Given the description of an element on the screen output the (x, y) to click on. 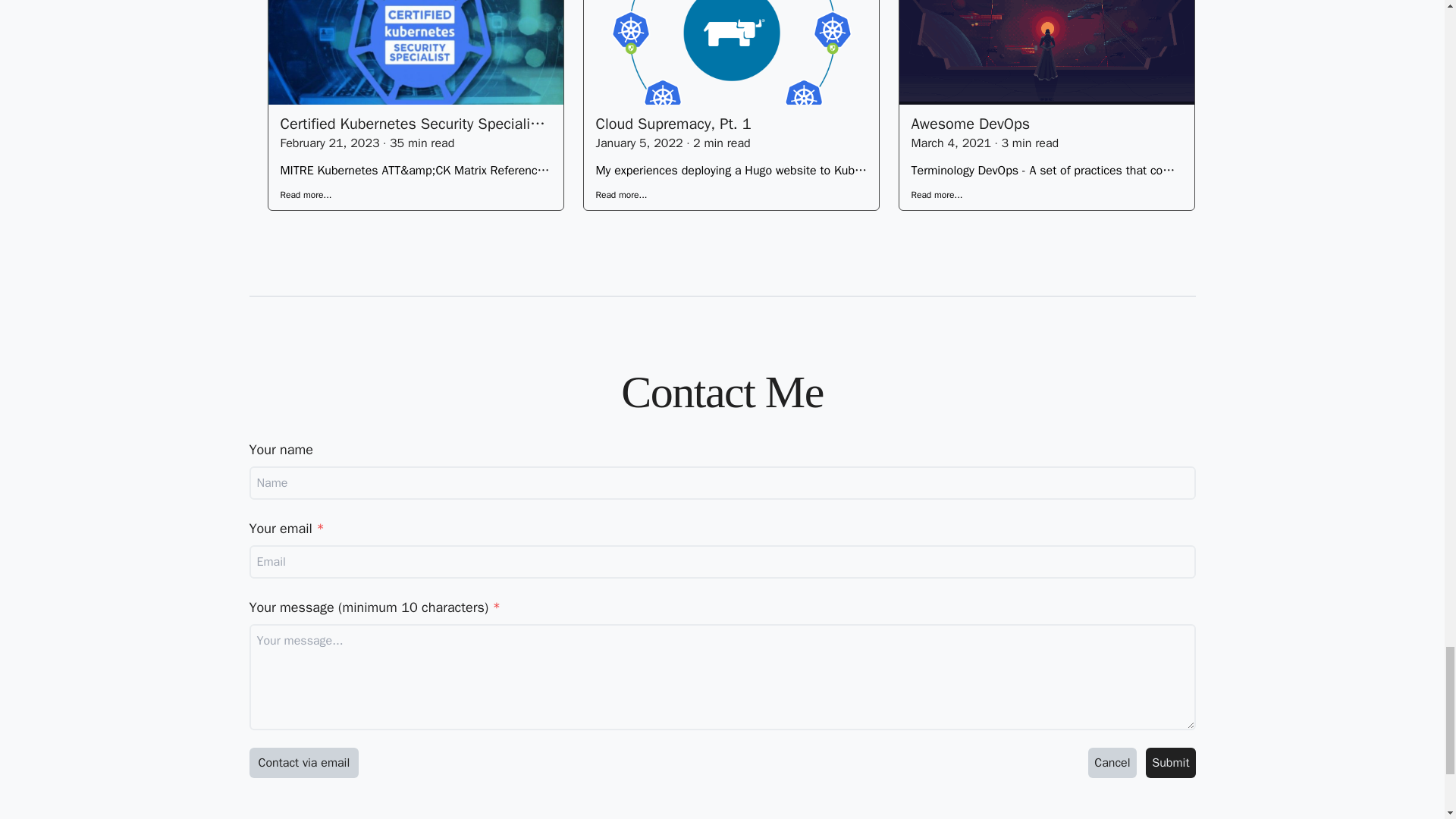
Submit (1170, 762)
Submit (1170, 762)
Contact via email (303, 762)
Cancel (1111, 762)
